Given the description of an element on the screen output the (x, y) to click on. 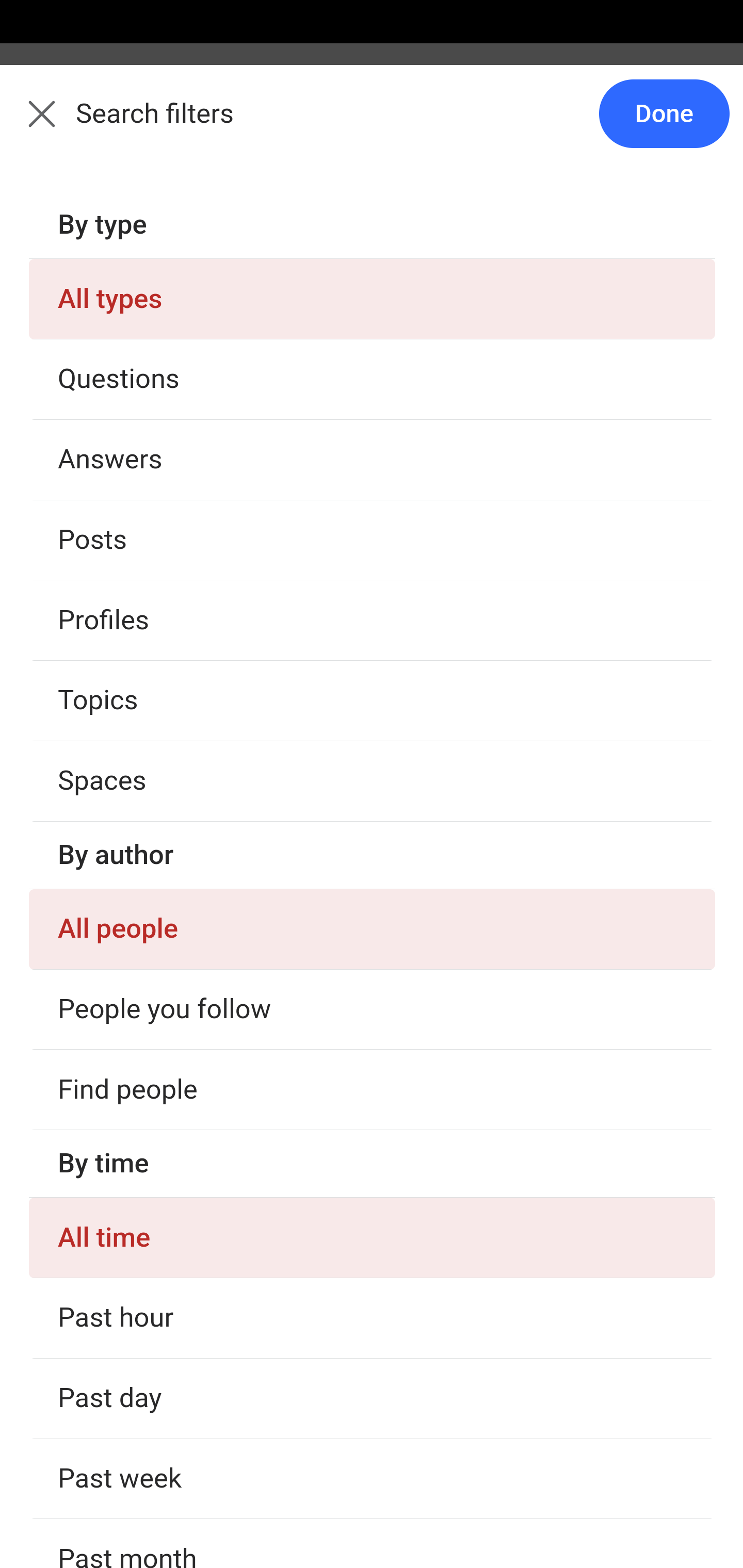
Back Search (371, 125)
Back (30, 125)
